Given the description of an element on the screen output the (x, y) to click on. 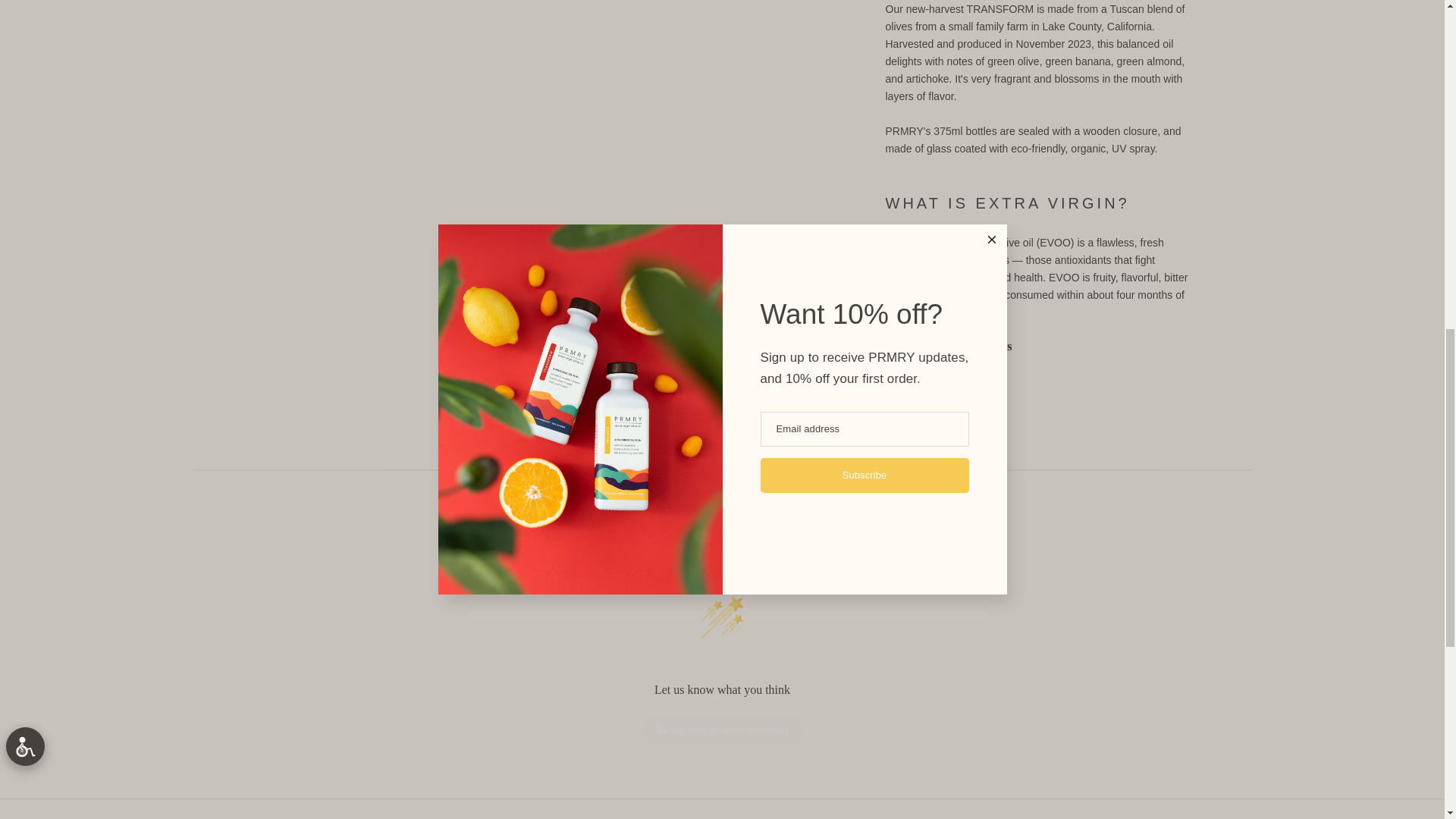
0 Reviews (948, 229)
